Given the description of an element on the screen output the (x, y) to click on. 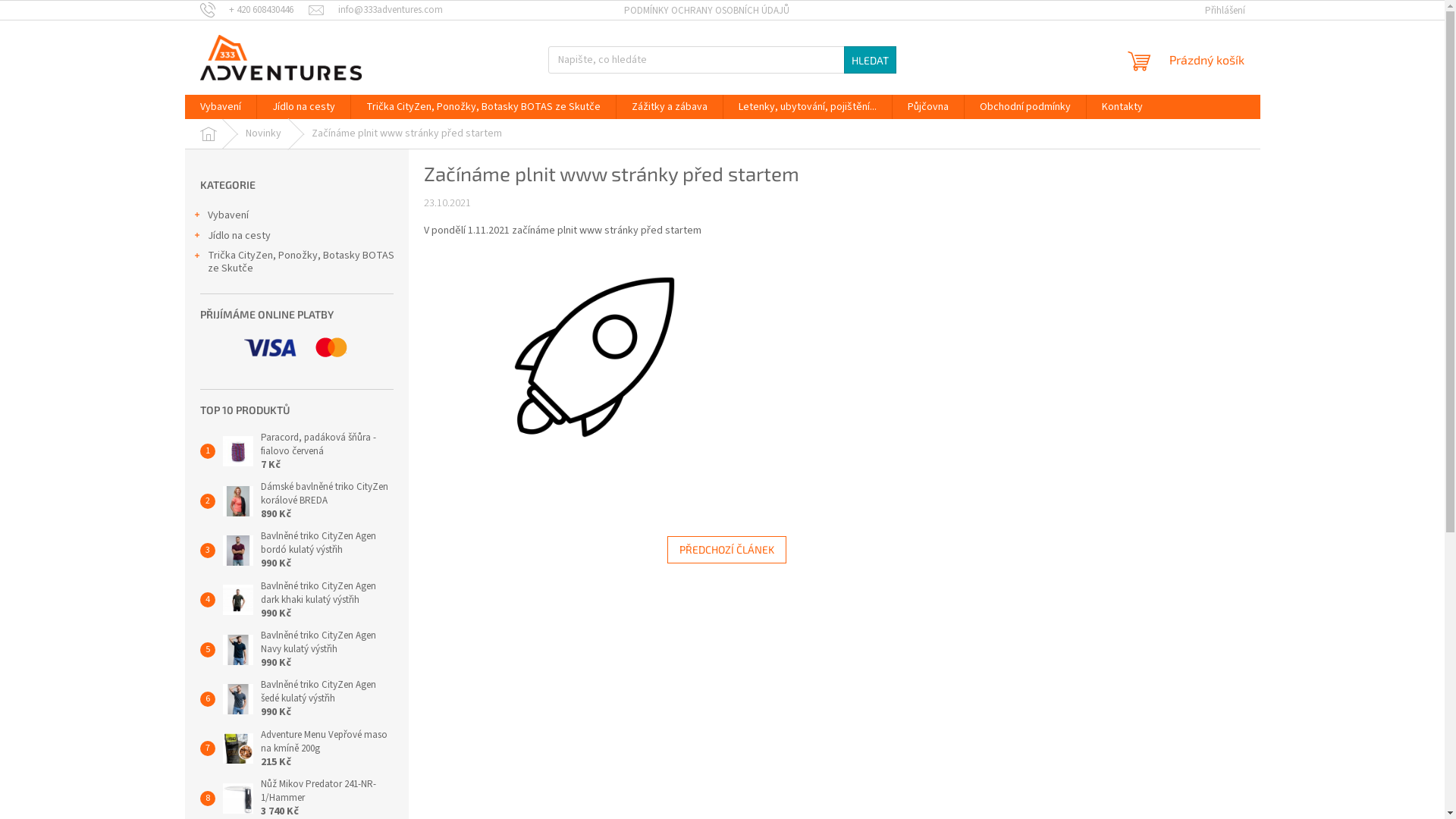
HLEDAT Element type: text (870, 59)
+ 420 608430446 Element type: text (254, 9)
info@333adventures.com Element type: text (375, 9)
Novinky Element type: text (263, 133)
Kontakty Element type: text (1121, 106)
